Given the description of an element on the screen output the (x, y) to click on. 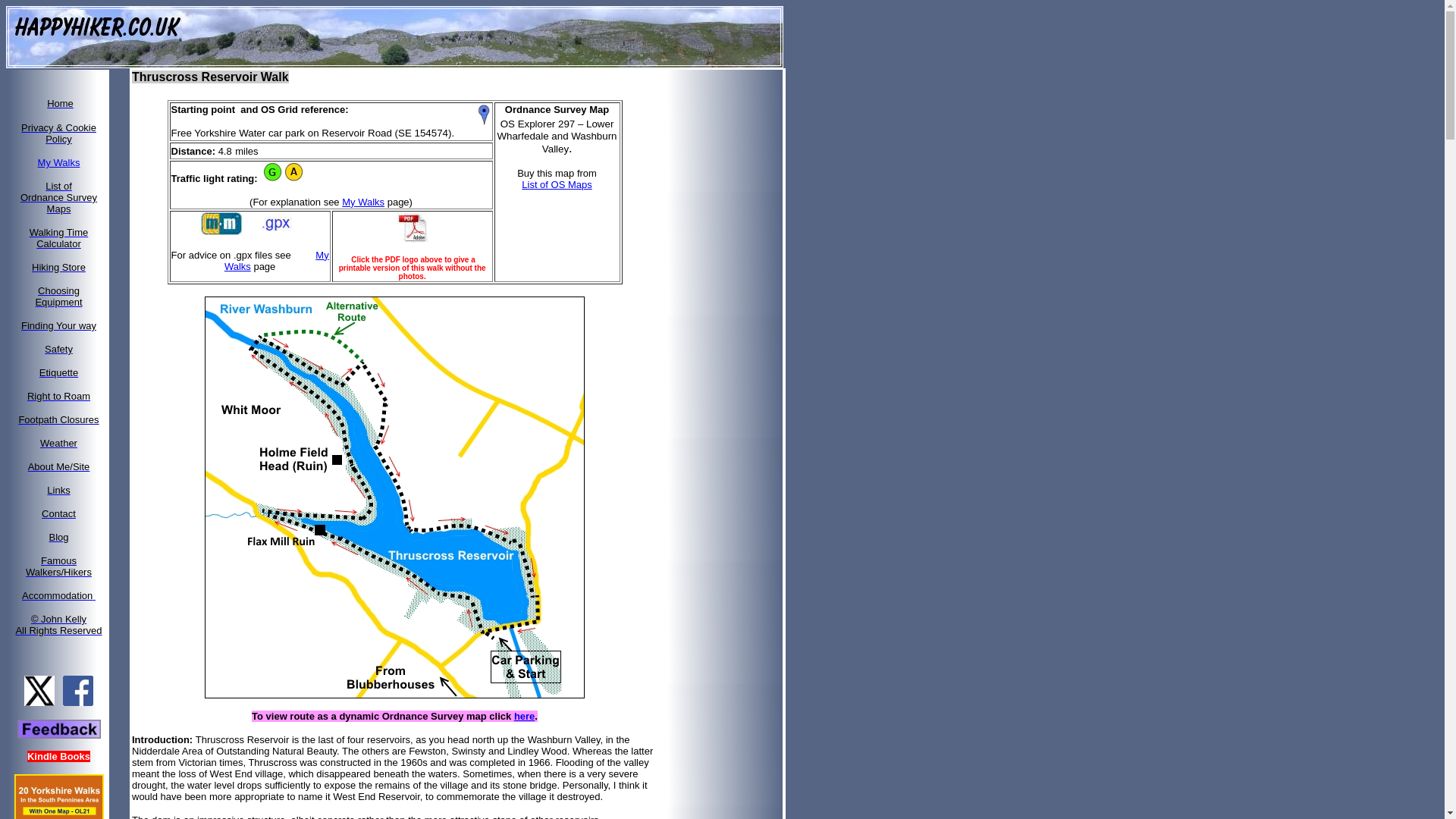
Right to Roam (58, 197)
My Walks (58, 396)
My Walks (57, 295)
Home (58, 161)
Footpath Closures (363, 202)
Safety (60, 102)
Blog (58, 419)
Advertisement (58, 348)
Accommodation  (58, 535)
Finding Your way (733, 297)
Walking Time Calculator (58, 594)
Weather (58, 325)
List of OS Maps (58, 237)
